Given the description of an element on the screen output the (x, y) to click on. 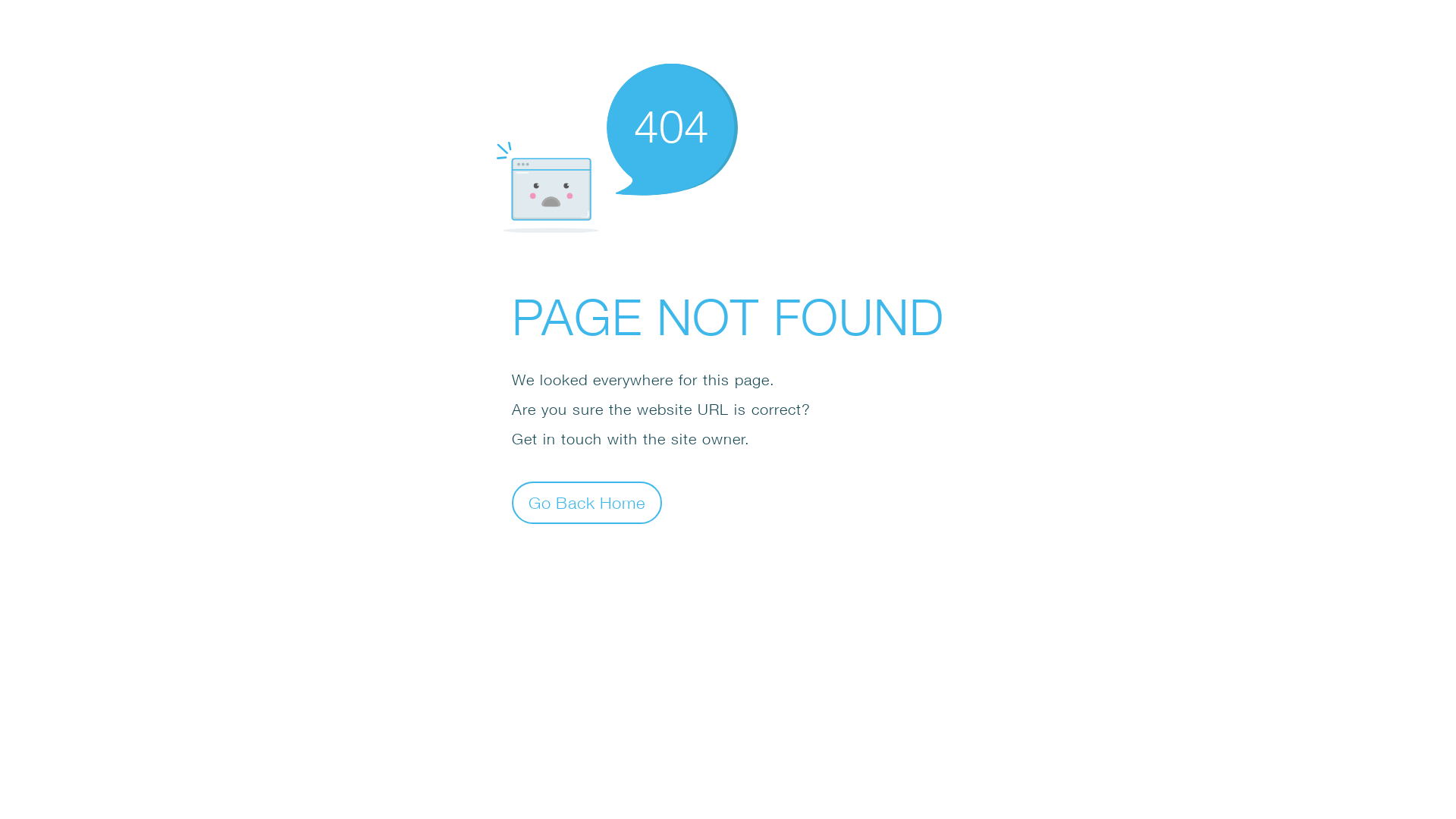
Go Back Home Element type: text (586, 502)
